Given the description of an element on the screen output the (x, y) to click on. 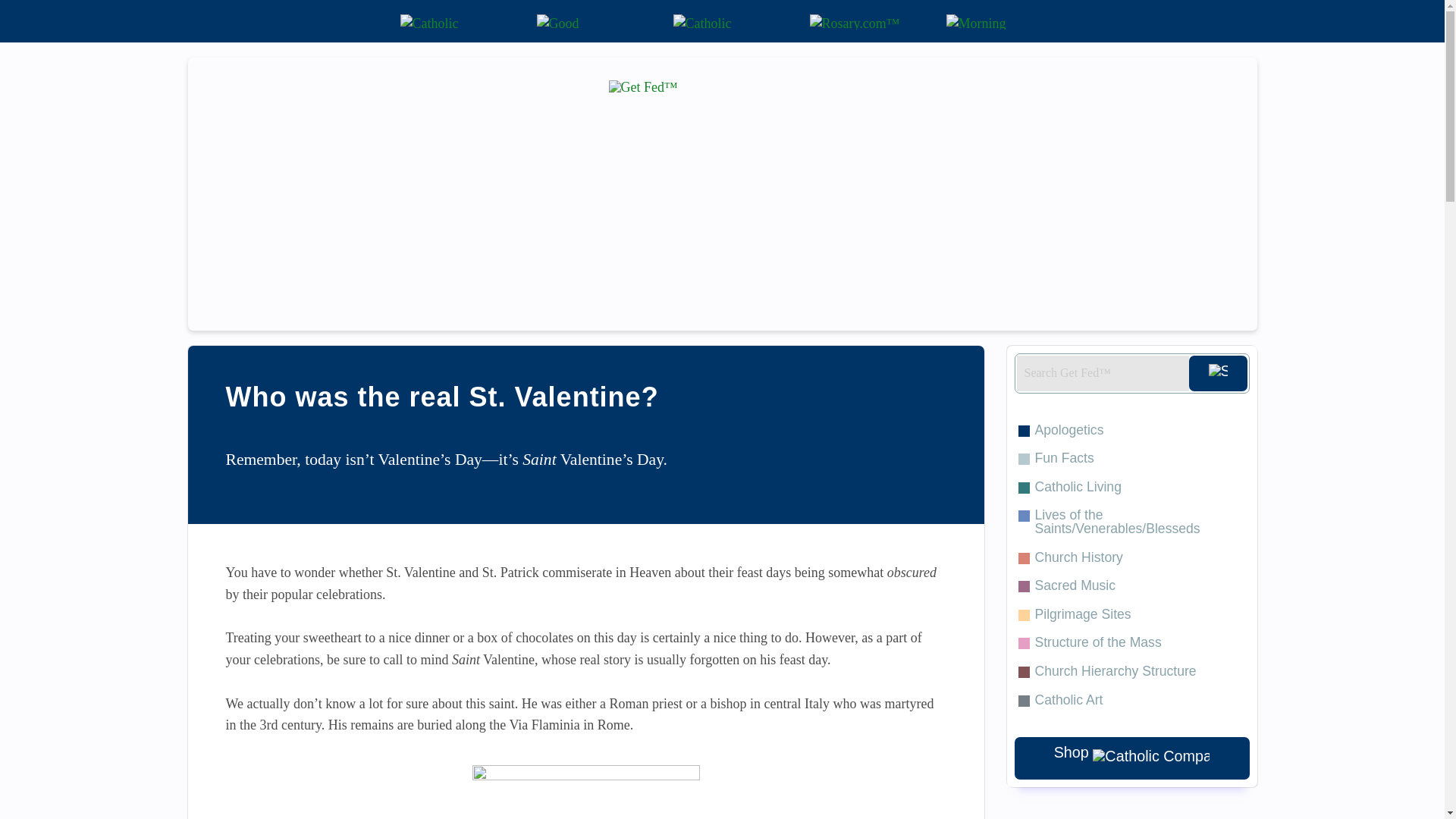
Fun Facts (1131, 458)
Catholic Living (1131, 487)
Apologetics (1131, 430)
Catholic Art (1131, 700)
Pilgrimage Sites (1131, 614)
Structure of the Mass (1131, 642)
Church Hierarchy Structure (1131, 671)
Shop (1131, 758)
Church History (1131, 557)
Sacred Music (1131, 585)
